Given the description of an element on the screen output the (x, y) to click on. 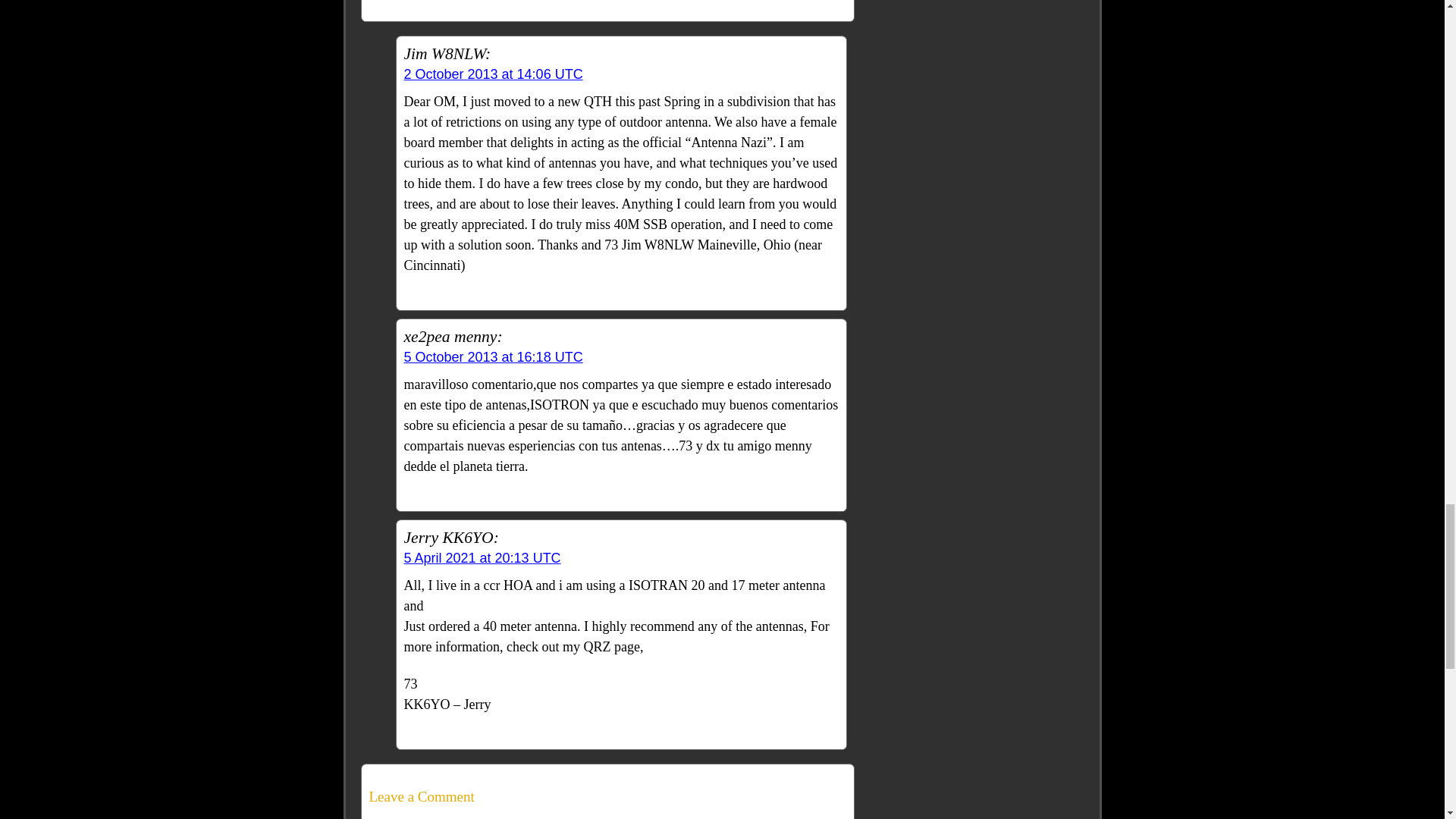
Leave a Comment (606, 796)
5 October 2013 at 16:18 UTC (492, 356)
2 October 2013 at 14:06 UTC (492, 73)
5 April 2021 at 20:13 UTC (481, 557)
